Given the description of an element on the screen output the (x, y) to click on. 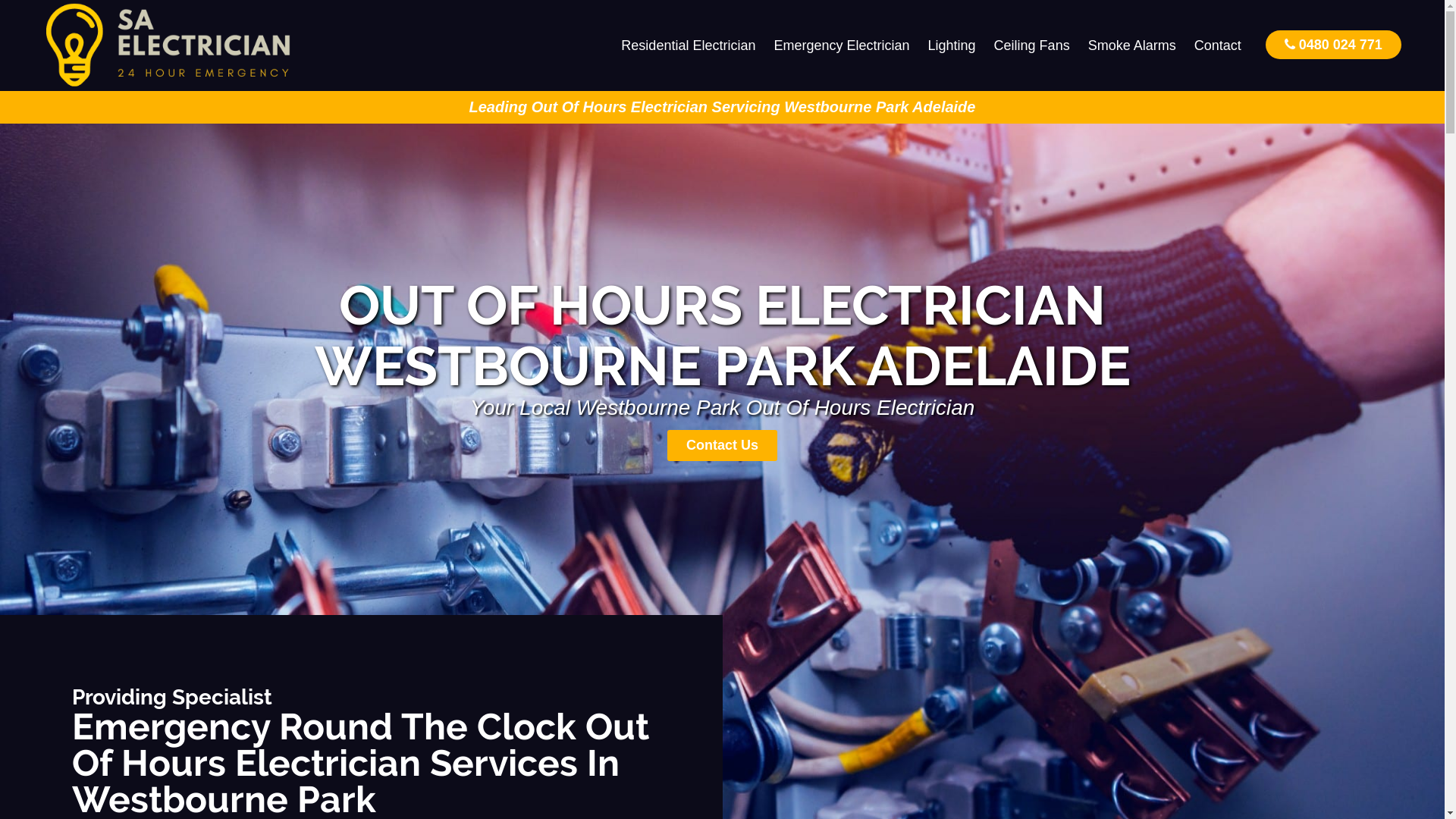
Residential Electrician Element type: text (687, 45)
0480 024 771 Element type: text (1333, 44)
Contact Us Element type: text (722, 445)
Emergency Electrician Element type: text (841, 45)
Smoke Alarms Element type: text (1132, 45)
Lighting Element type: text (952, 45)
Contact Element type: text (1217, 45)
Ceiling Fans Element type: text (1032, 45)
